Given the description of an element on the screen output the (x, y) to click on. 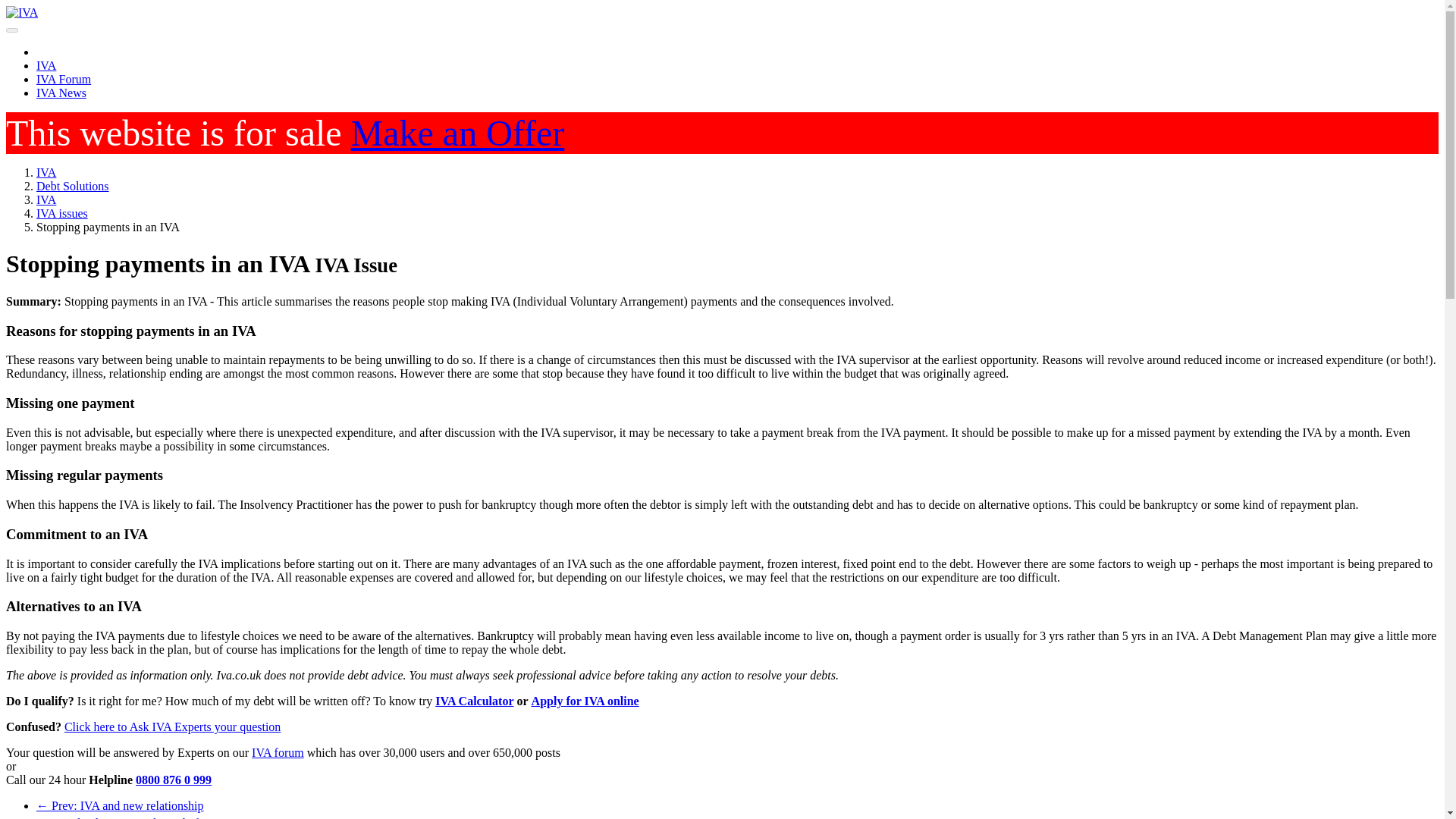
0800 876 0 999 (173, 779)
IVA experts helpline (173, 779)
Apply for IVA online (585, 700)
IVA issues (61, 213)
IVA (46, 65)
IVA Forum (63, 78)
IVA (46, 172)
Debt Solutions (72, 185)
IVA (46, 172)
